Given the description of an element on the screen output the (x, y) to click on. 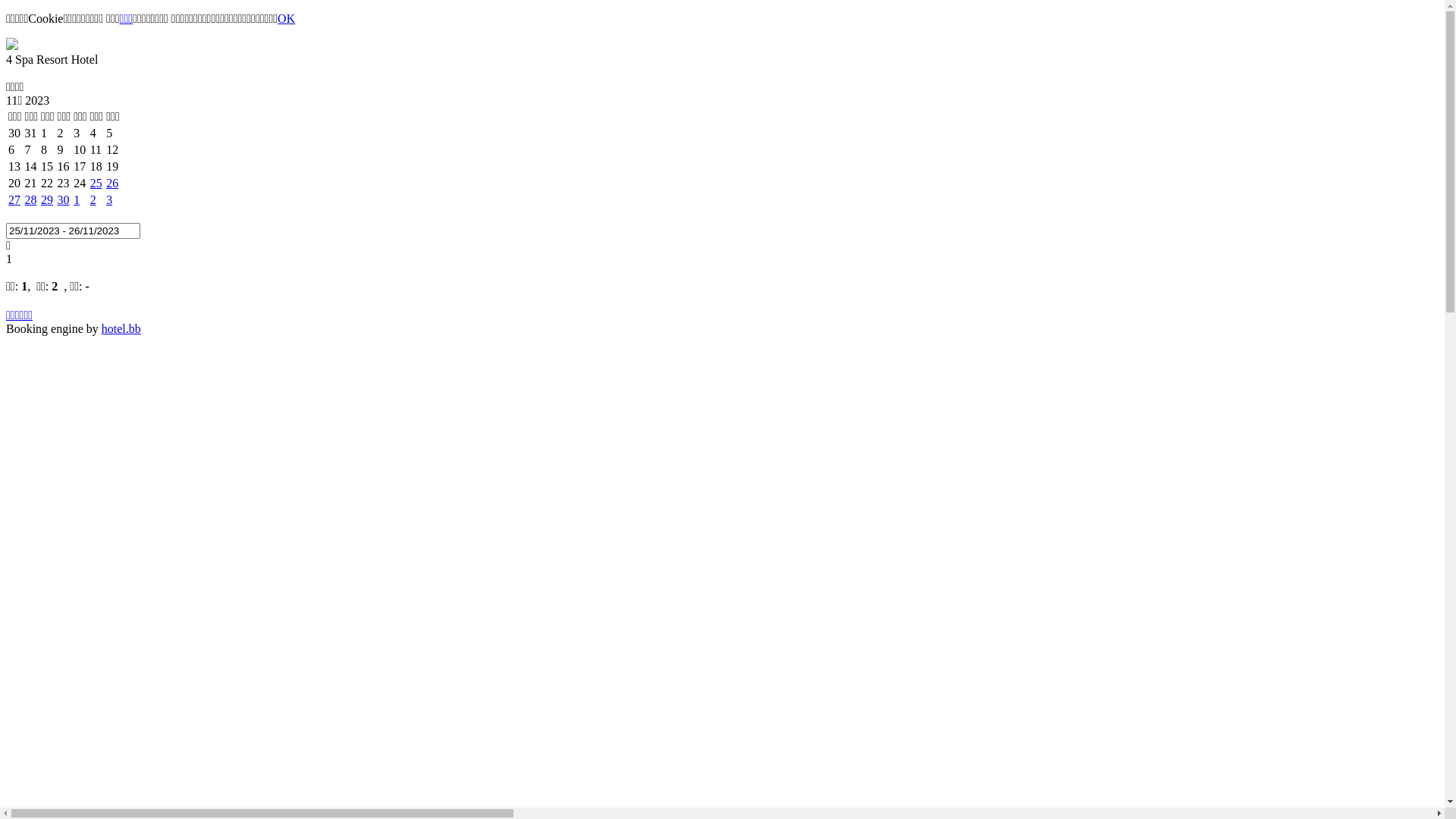
OK Element type: text (285, 18)
2 Element type: text (93, 199)
3 Element type: text (109, 199)
hotel.bb Element type: text (121, 328)
26 Element type: text (112, 182)
27 Element type: text (14, 199)
29 Element type: text (46, 199)
30 Element type: text (63, 199)
1 Element type: text (76, 199)
25 Element type: text (96, 182)
28 Element type: text (31, 199)
